Given the description of an element on the screen output the (x, y) to click on. 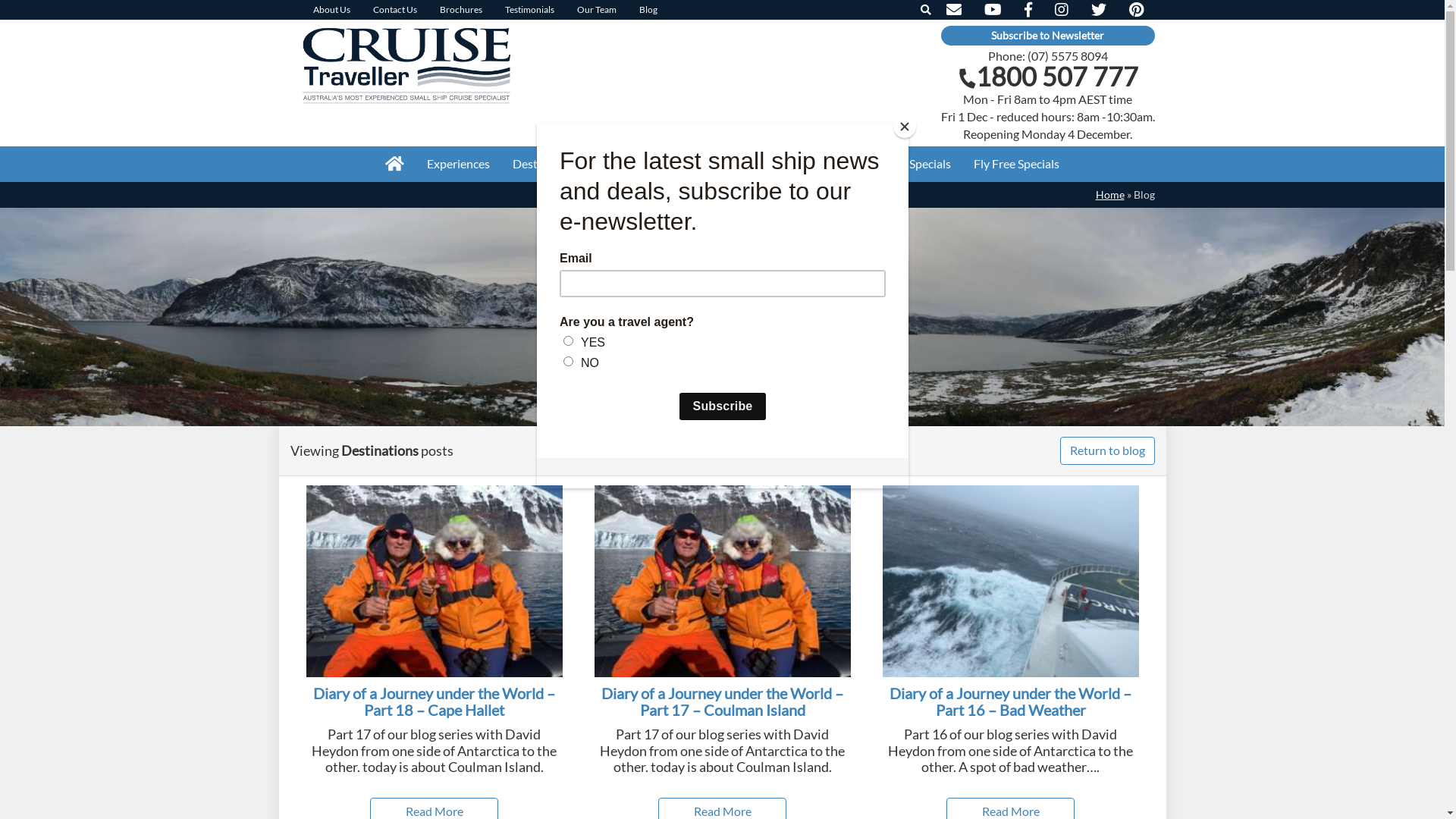
Contact Us Element type: text (393, 9)
Cruise Search Element type: text (724, 164)
About Us Element type: text (331, 9)
Subscribe to Newsletter Element type: text (1047, 35)
Brochures Element type: text (459, 9)
Solo Specials Element type: text (917, 164)
Cruise Specials Element type: text (821, 164)
Destinations Element type: text (546, 164)
Experiences Element type: text (458, 164)
Cruise Lines Element type: text (634, 164)
Fly Free Specials Element type: text (1016, 164)
Our Team Element type: text (596, 9)
Return to blog Element type: text (1107, 450)
Blog Element type: text (647, 9)
Testimonials Element type: text (528, 9)
Home Element type: text (1109, 194)
